Given the description of an element on the screen output the (x, y) to click on. 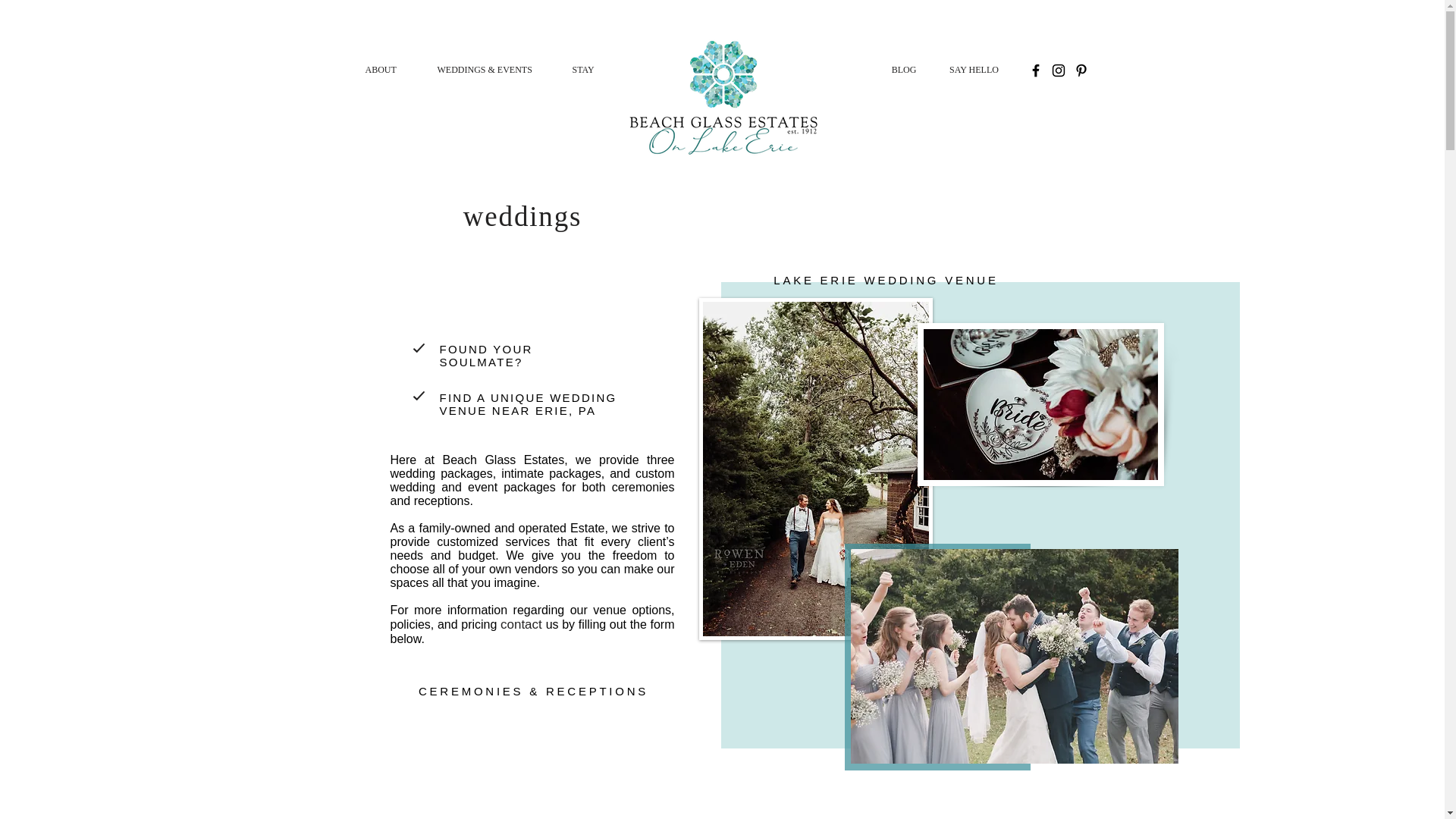
SAY HELLO (973, 69)
STAY (590, 69)
ABOUT (389, 69)
BLOG (904, 69)
